Given the description of an element on the screen output the (x, y) to click on. 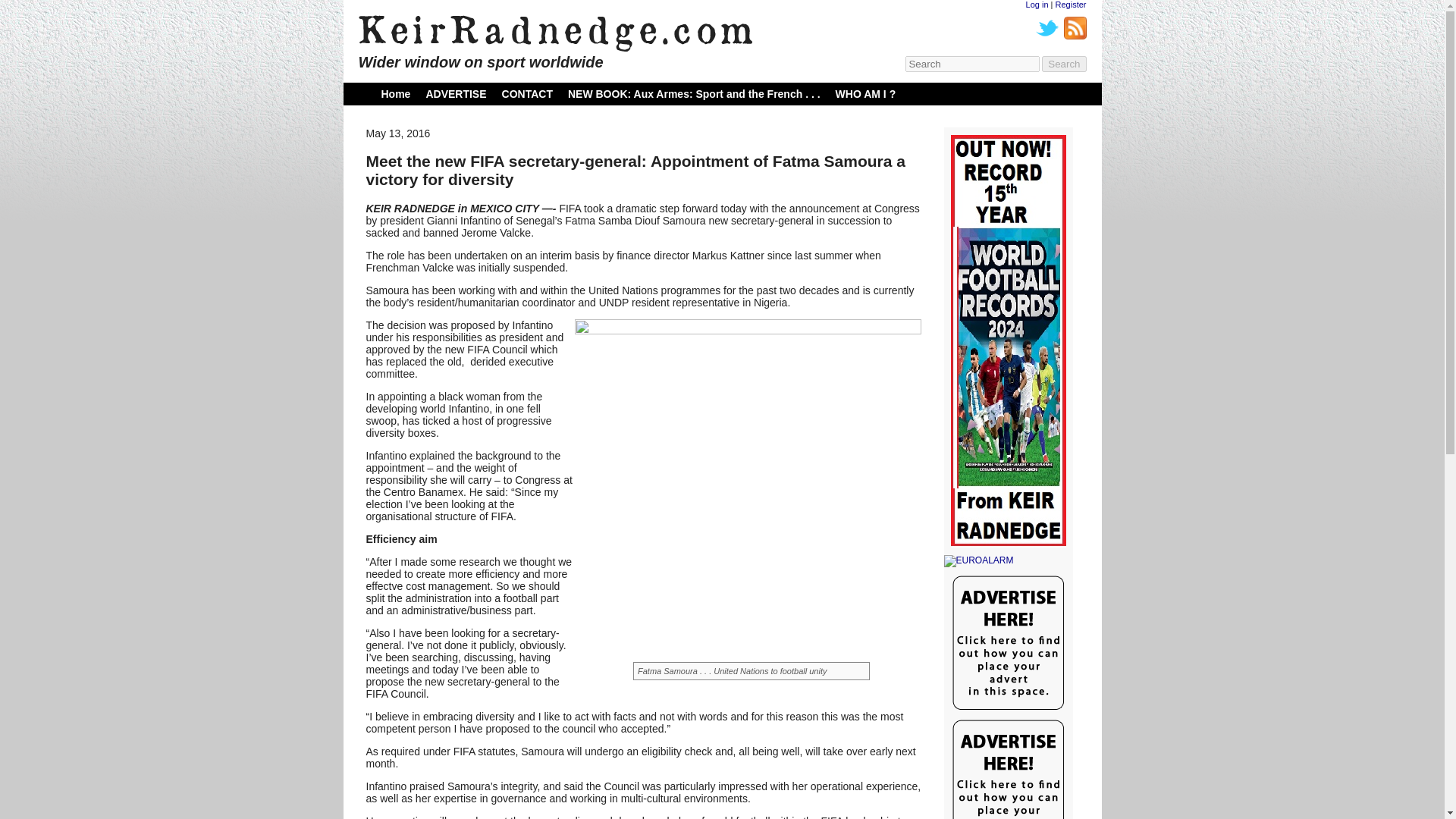
WHO AM I ? (865, 93)
Log in (1037, 4)
ADVERTISE (455, 93)
NEW BOOK: Aux Armes: Sport and the French . . . (694, 93)
Register (1070, 4)
Search (1064, 64)
CONTACT (527, 93)
EUROALARM (1007, 561)
Search (1064, 64)
samouraFR (748, 501)
Home (395, 93)
